Given the description of an element on the screen output the (x, y) to click on. 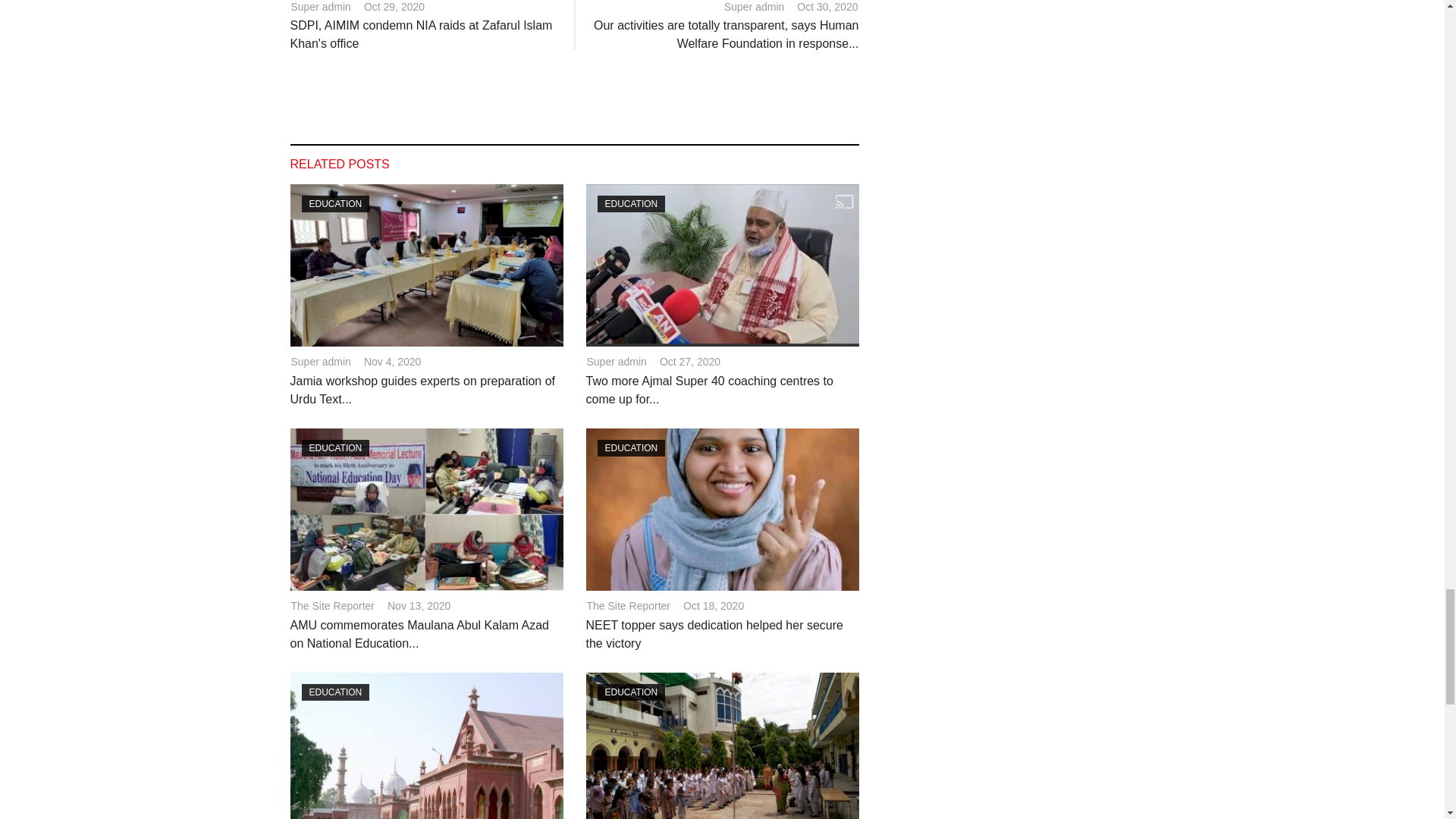
Super admin (753, 8)
SDPI, AIMIM condemn NIA raids at Zafarul Islam Khan's office (420, 33)
Oct 30, 2020 (827, 8)
Super admin (319, 8)
Oct 29, 2020 (393, 8)
